Given the description of an element on the screen output the (x, y) to click on. 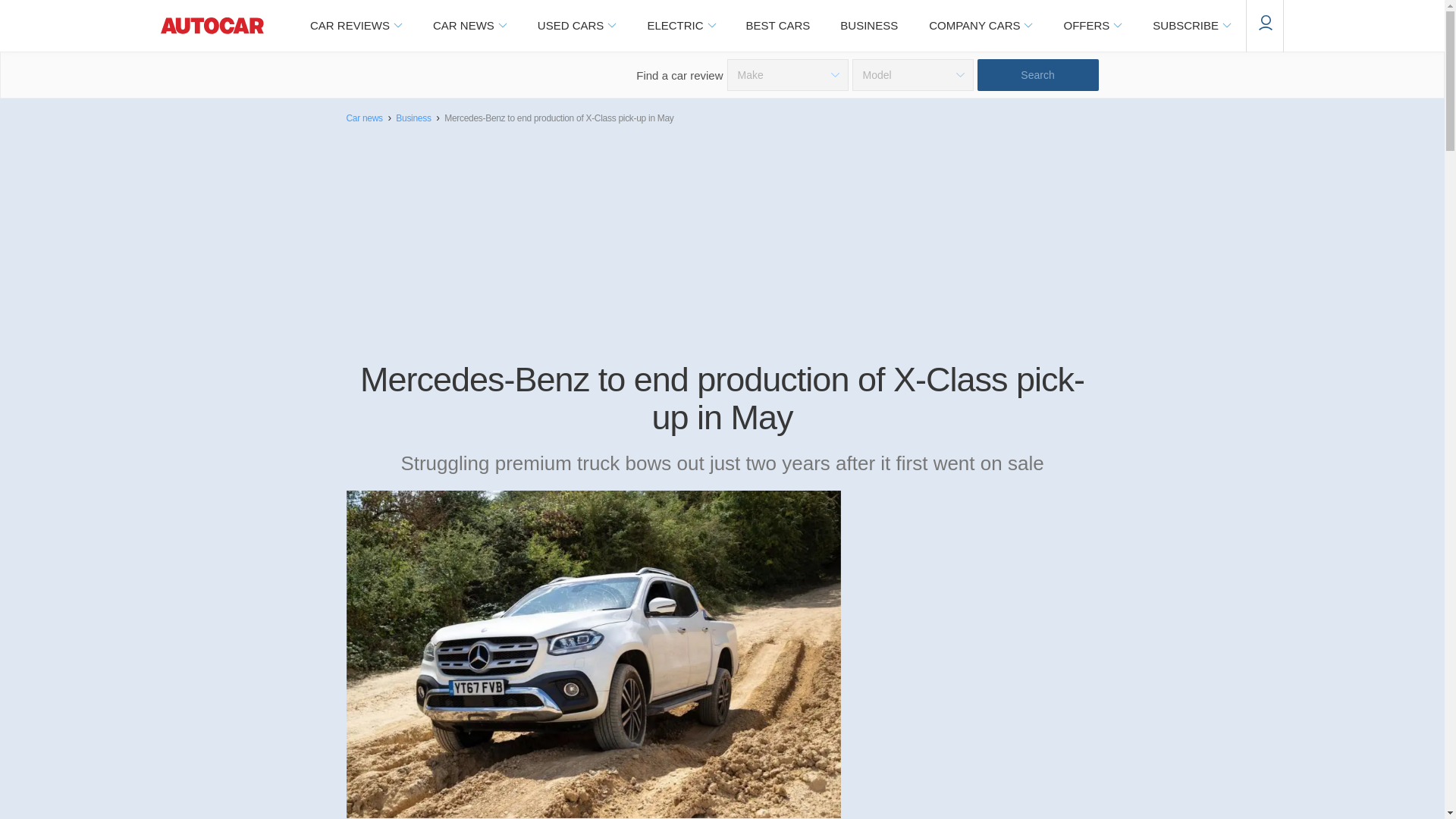
SUBSCRIBE (1191, 26)
CAR NEWS (468, 26)
Top 10 cars by segment (777, 26)
BUSINESS (868, 26)
USED CARS (576, 26)
Search (1036, 74)
Autocar Business news, insight and opinion (868, 26)
ELECTRIC (680, 26)
Autocar Electric (680, 26)
COMPANY CARS (979, 26)
